Given the description of an element on the screen output the (x, y) to click on. 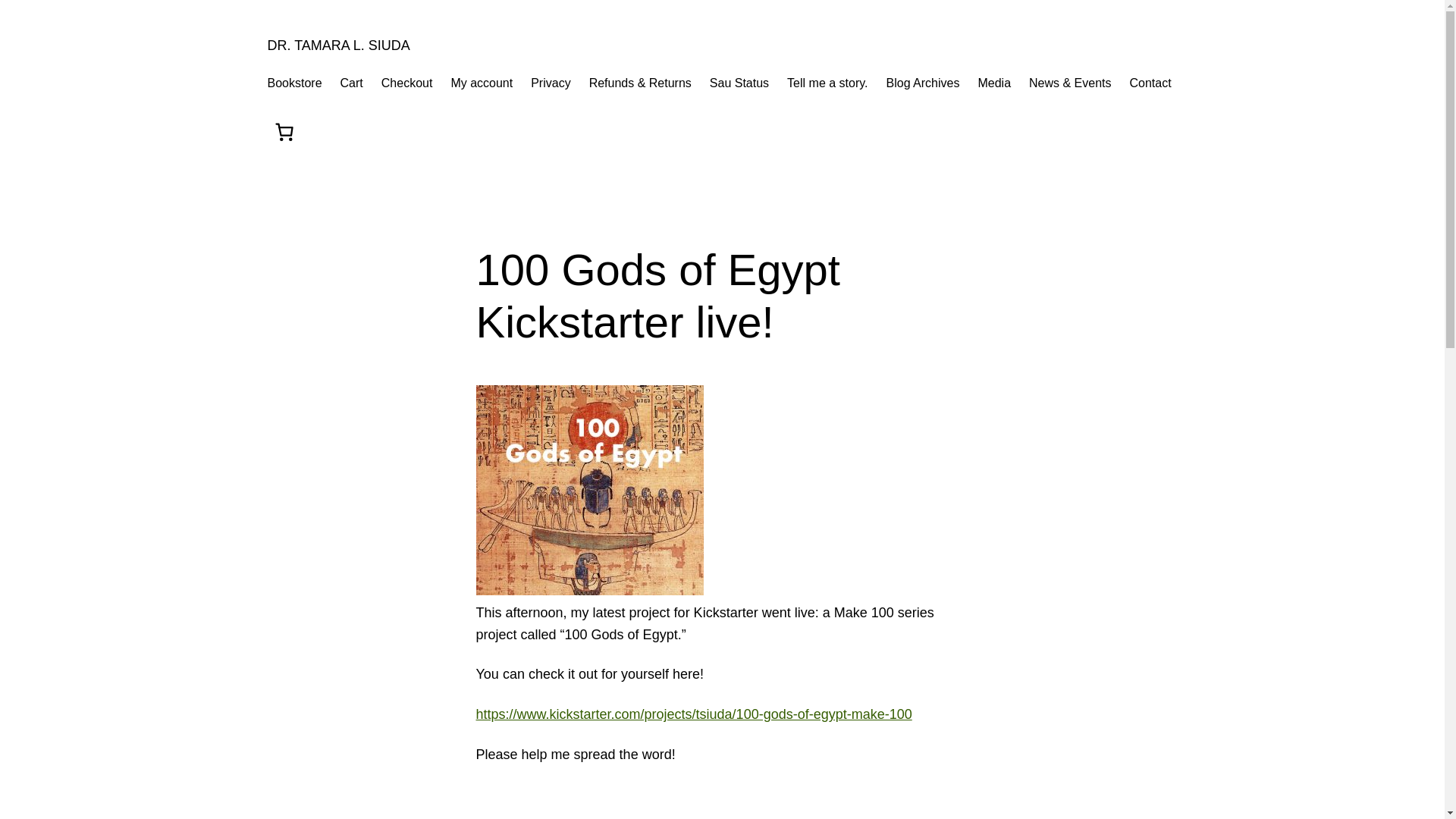
DR. TAMARA L. SIUDA (337, 45)
Cart (351, 83)
Checkout (406, 83)
Tell me a story. (827, 83)
Blog Archives (922, 83)
Bookstore (293, 83)
Media (993, 83)
Sau Status (739, 83)
Privacy (550, 83)
My account (480, 83)
